Given the description of an element on the screen output the (x, y) to click on. 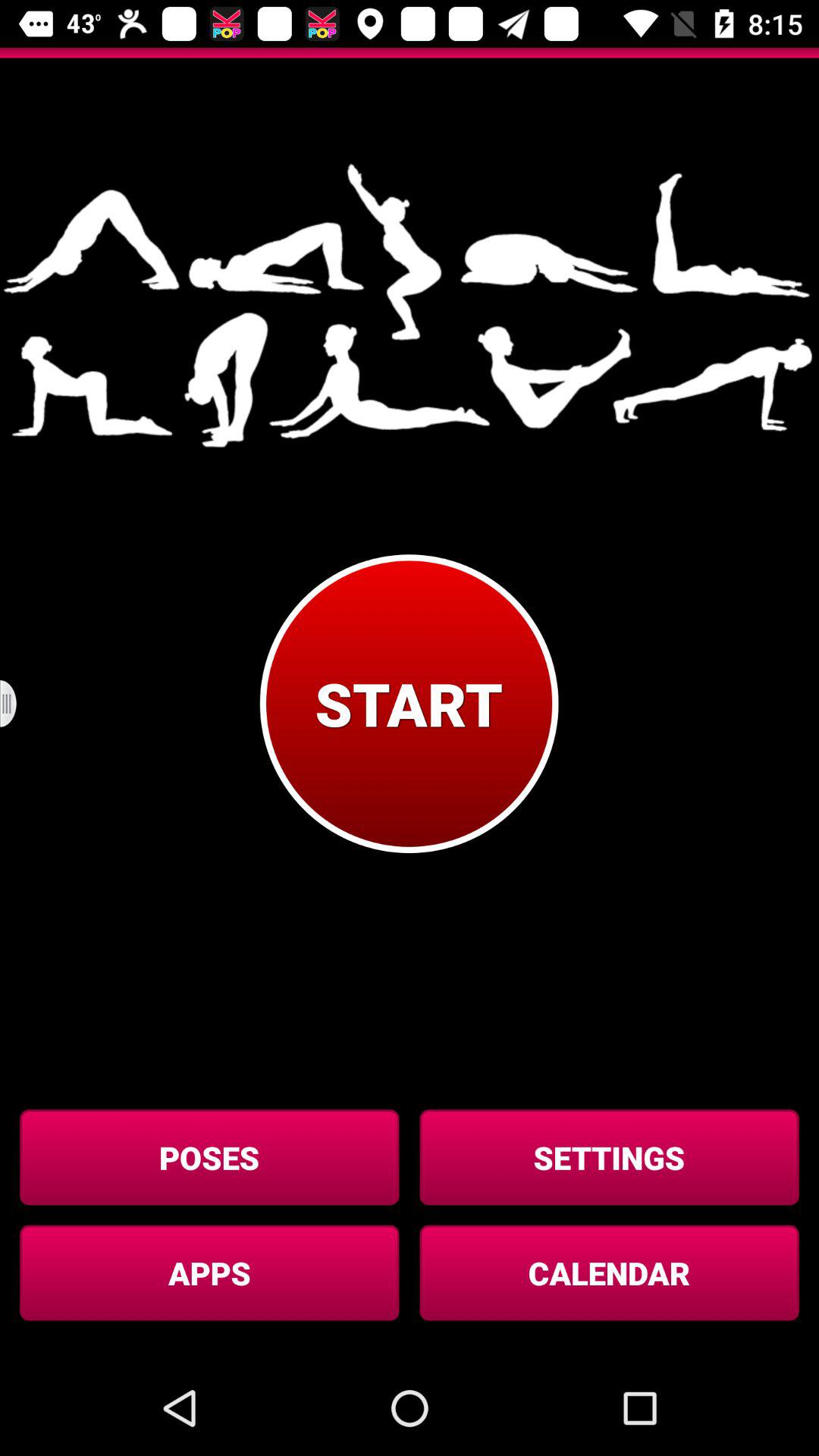
turn off icon at the center (408, 703)
